Given the description of an element on the screen output the (x, y) to click on. 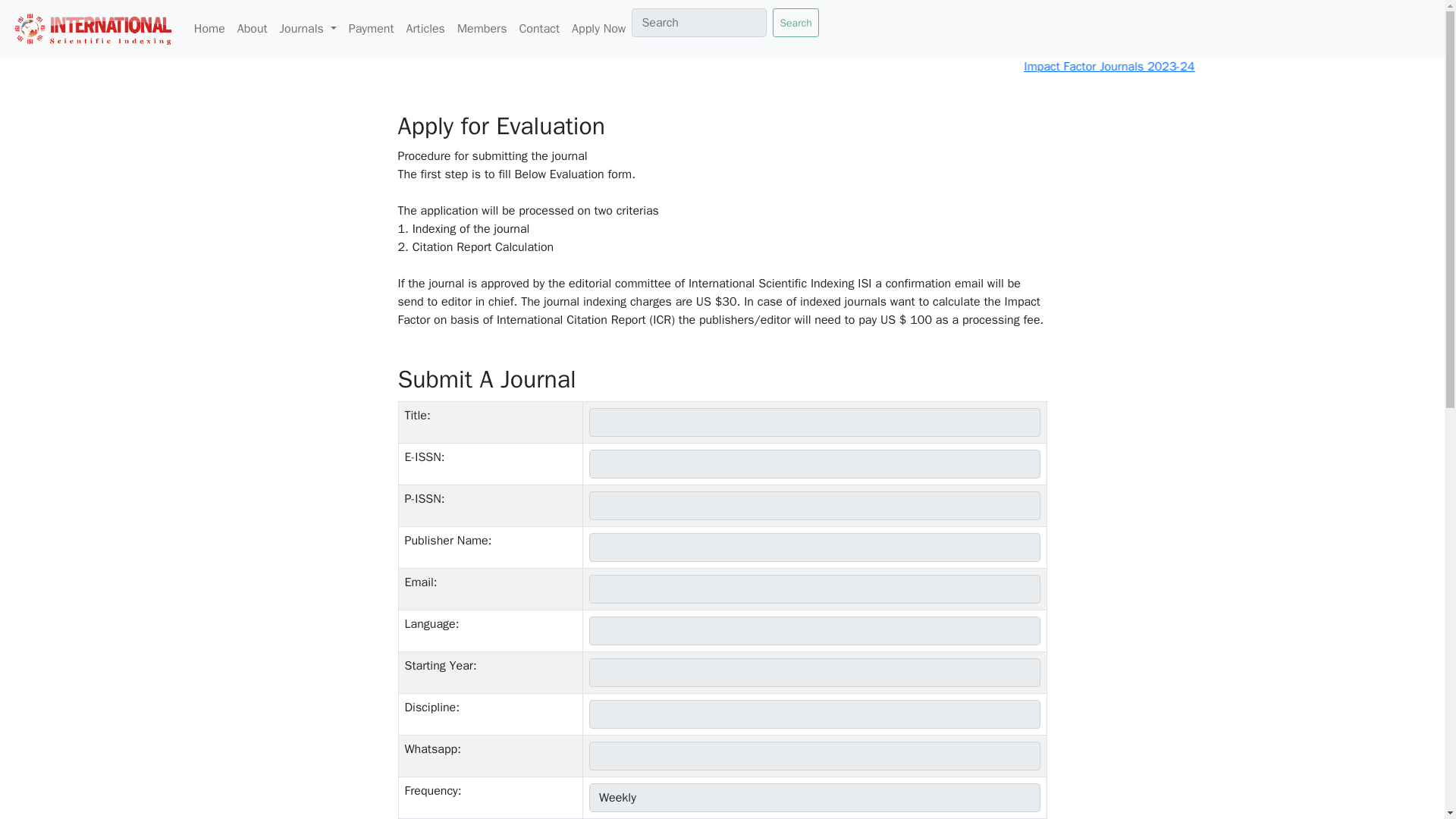
Contact (539, 28)
About (252, 28)
Members (482, 28)
Home (209, 28)
Payment (371, 28)
Impact Factor Journals 2023-24 (1262, 66)
Apply Now (598, 28)
Advertisement (578, 780)
Journals (307, 28)
Search (795, 22)
